Given the description of an element on the screen output the (x, y) to click on. 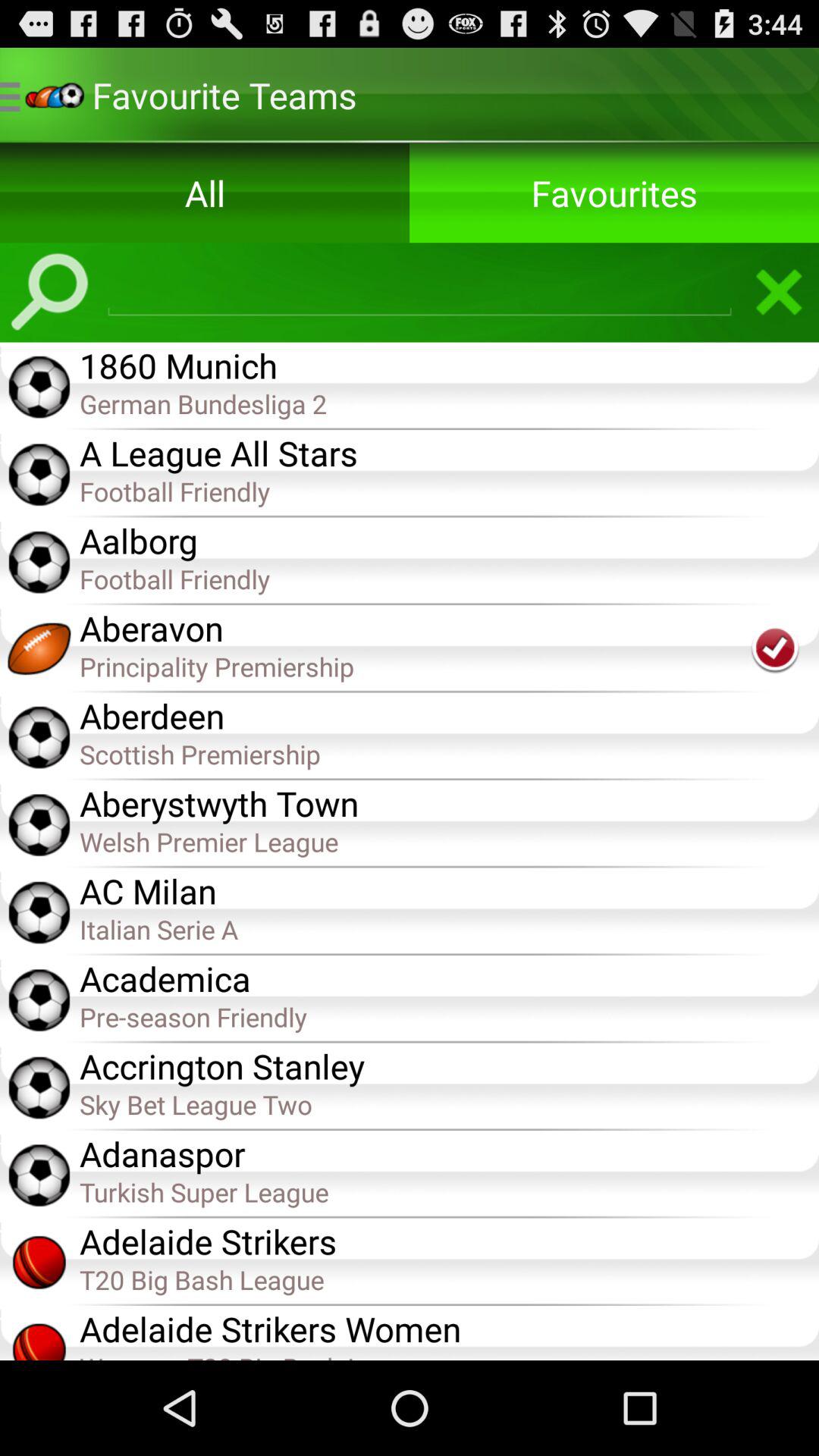
turn off item below the aberystwyth town item (449, 841)
